Given the description of an element on the screen output the (x, y) to click on. 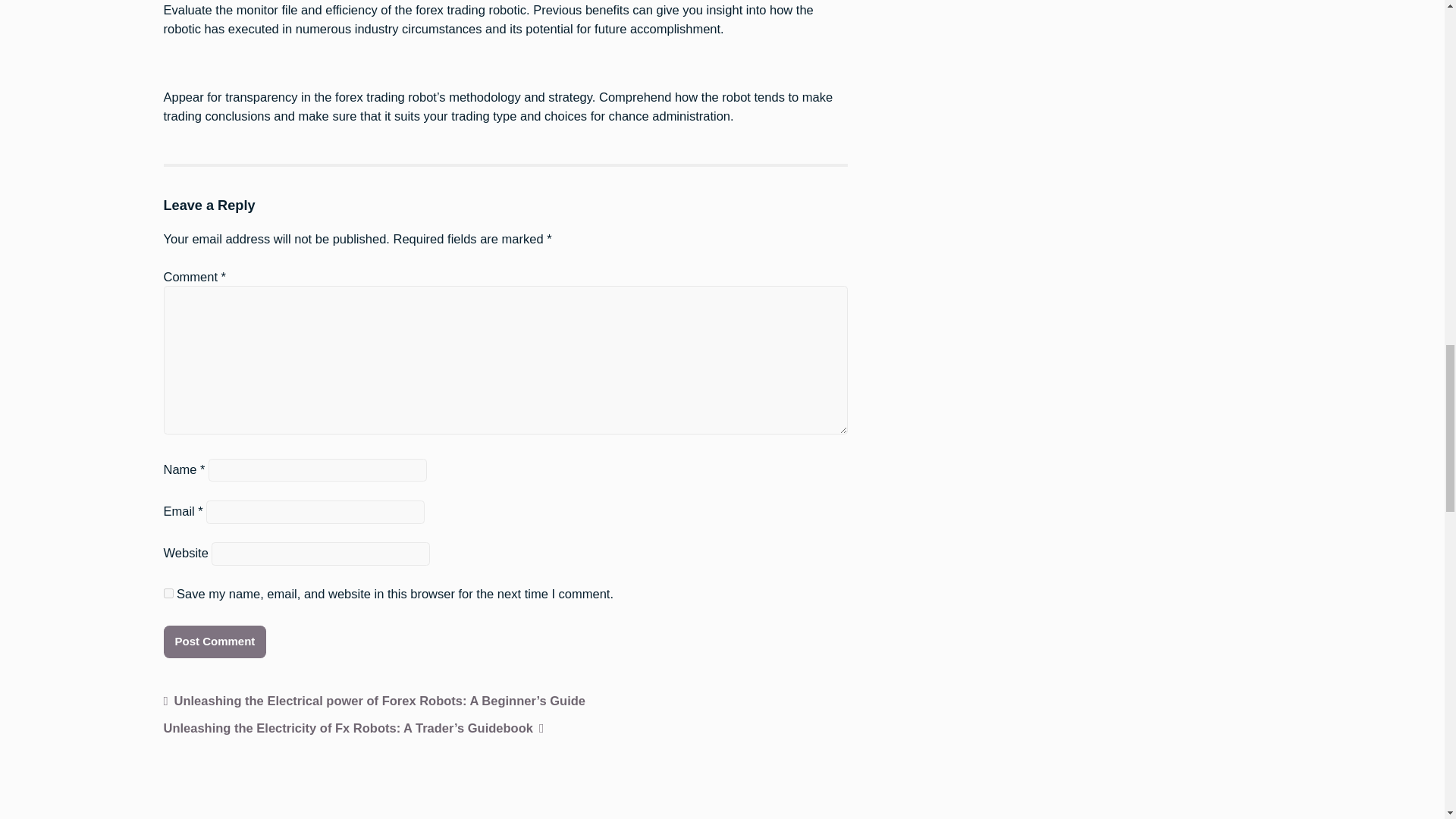
Post Comment (214, 641)
Post Comment (214, 641)
yes (168, 593)
